Given the description of an element on the screen output the (x, y) to click on. 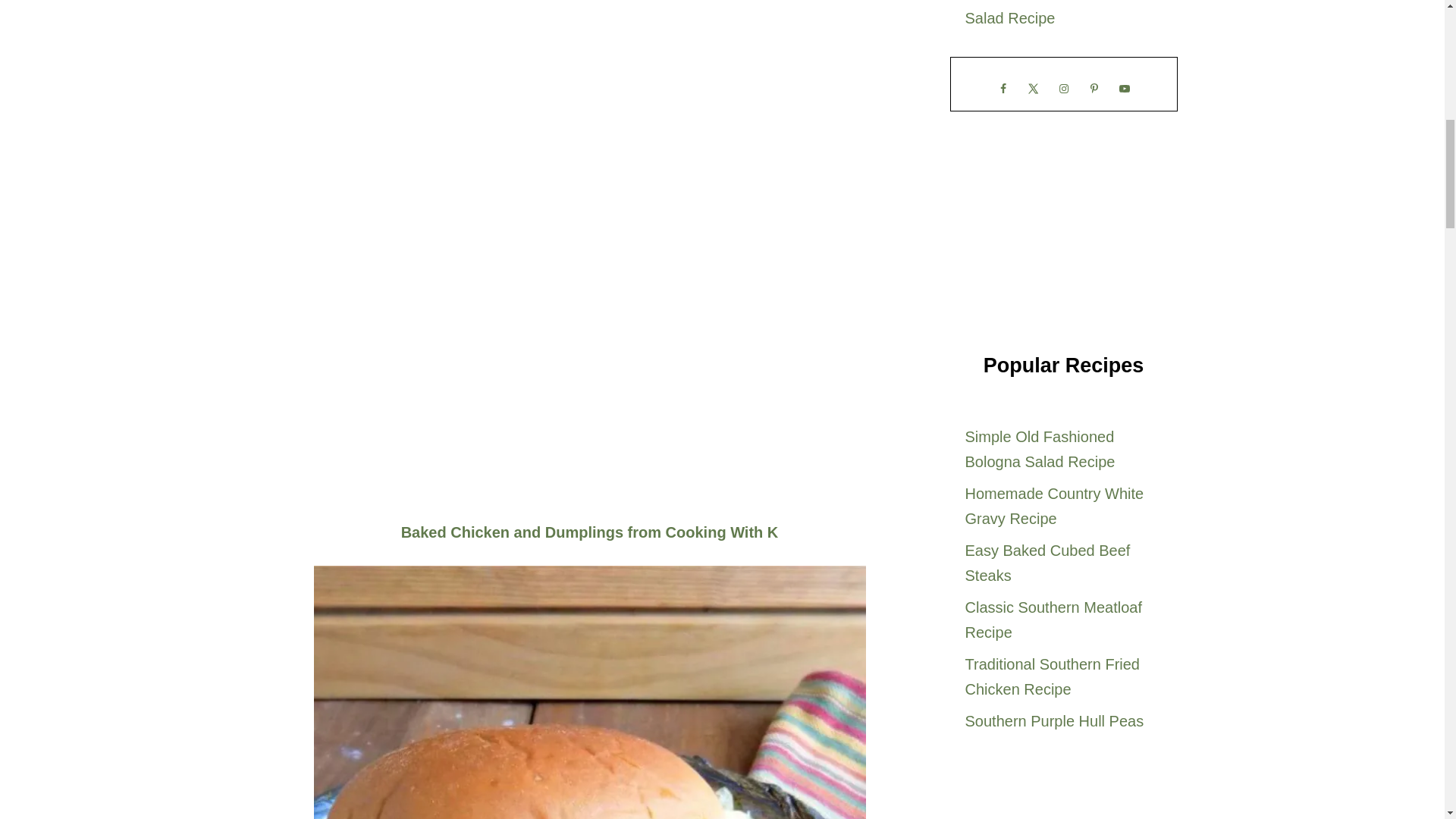
Follow on YouTube (1123, 87)
Follow on Facebook (1002, 87)
Follow on Pinterest (1093, 87)
Follow on Instagram (1063, 87)
Follow on X (1032, 87)
Baked Chicken and Dumplings from Cooking With K (589, 532)
